Given the description of an element on the screen output the (x, y) to click on. 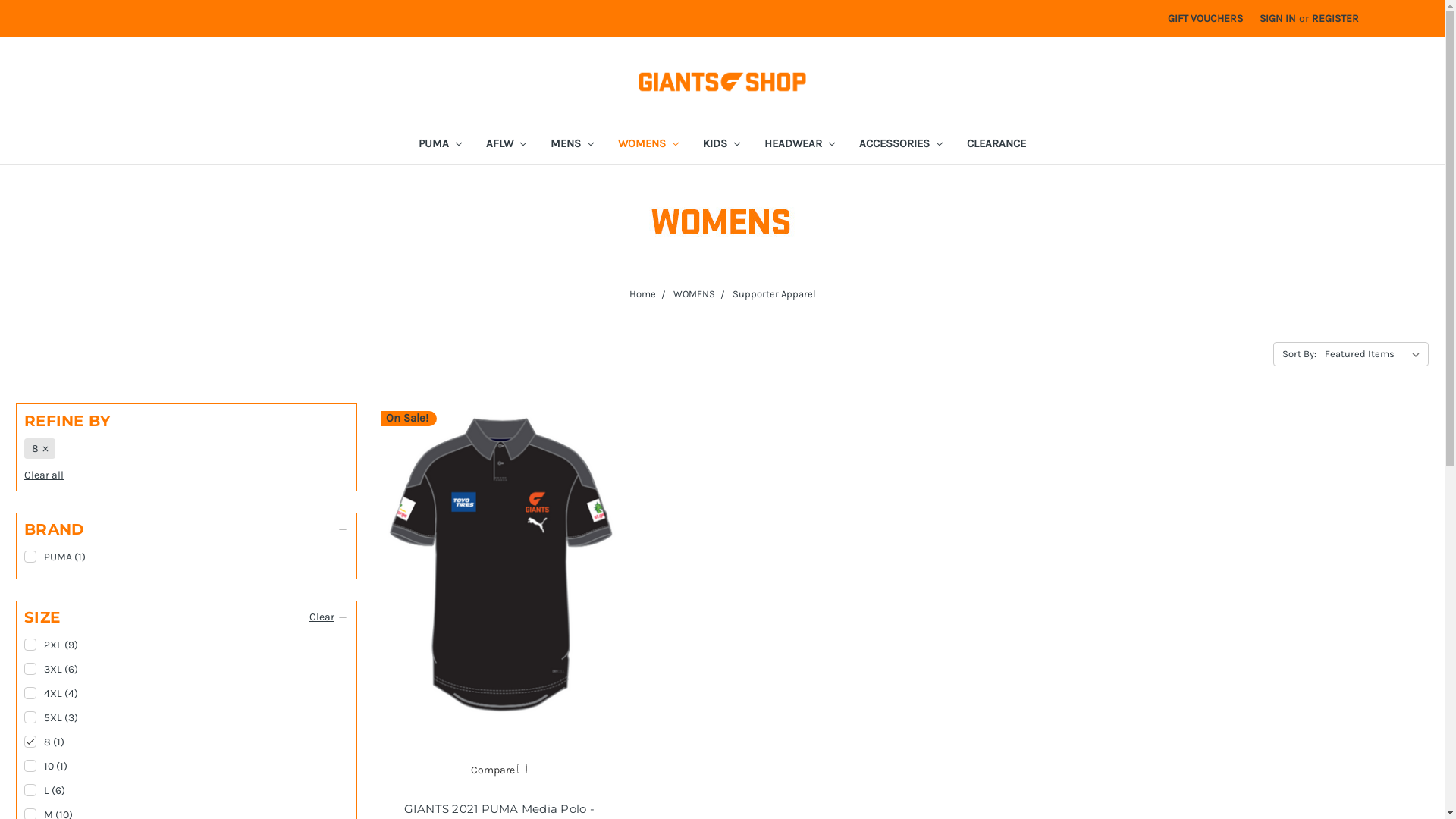
10 (1) Element type: text (186, 766)
MENS Element type: text (571, 144)
HEADWEAR Element type: text (799, 144)
ACCESSORIES Element type: text (900, 144)
REGISTER Element type: text (1335, 18)
PUMA (1) Element type: text (186, 556)
GIANTS Shop Element type: hover (722, 81)
Wishlist Element type: hover (1403, 10)
3XL (6) Element type: text (186, 668)
Clear all Element type: text (43, 474)
GIFT VOUCHERS Element type: text (1205, 18)
Clear Element type: text (321, 616)
WOMENS Element type: text (647, 144)
4XL (4) Element type: text (186, 693)
PUMA Element type: text (439, 144)
8 Element type: text (39, 448)
8 (1) Element type: text (186, 741)
CLEARANCE Element type: text (996, 144)
L (6) Element type: text (186, 790)
KIDS Element type: text (721, 144)
WOMENS Element type: text (694, 293)
GIANTS 2021 PUMA Media Polo - Womens Element type: hover (498, 566)
AFLW Element type: text (505, 144)
SIGN IN Element type: text (1277, 18)
5XL (3) Element type: text (186, 717)
2XL (9) Element type: text (186, 644)
Home Element type: text (642, 293)
